Given the description of an element on the screen output the (x, y) to click on. 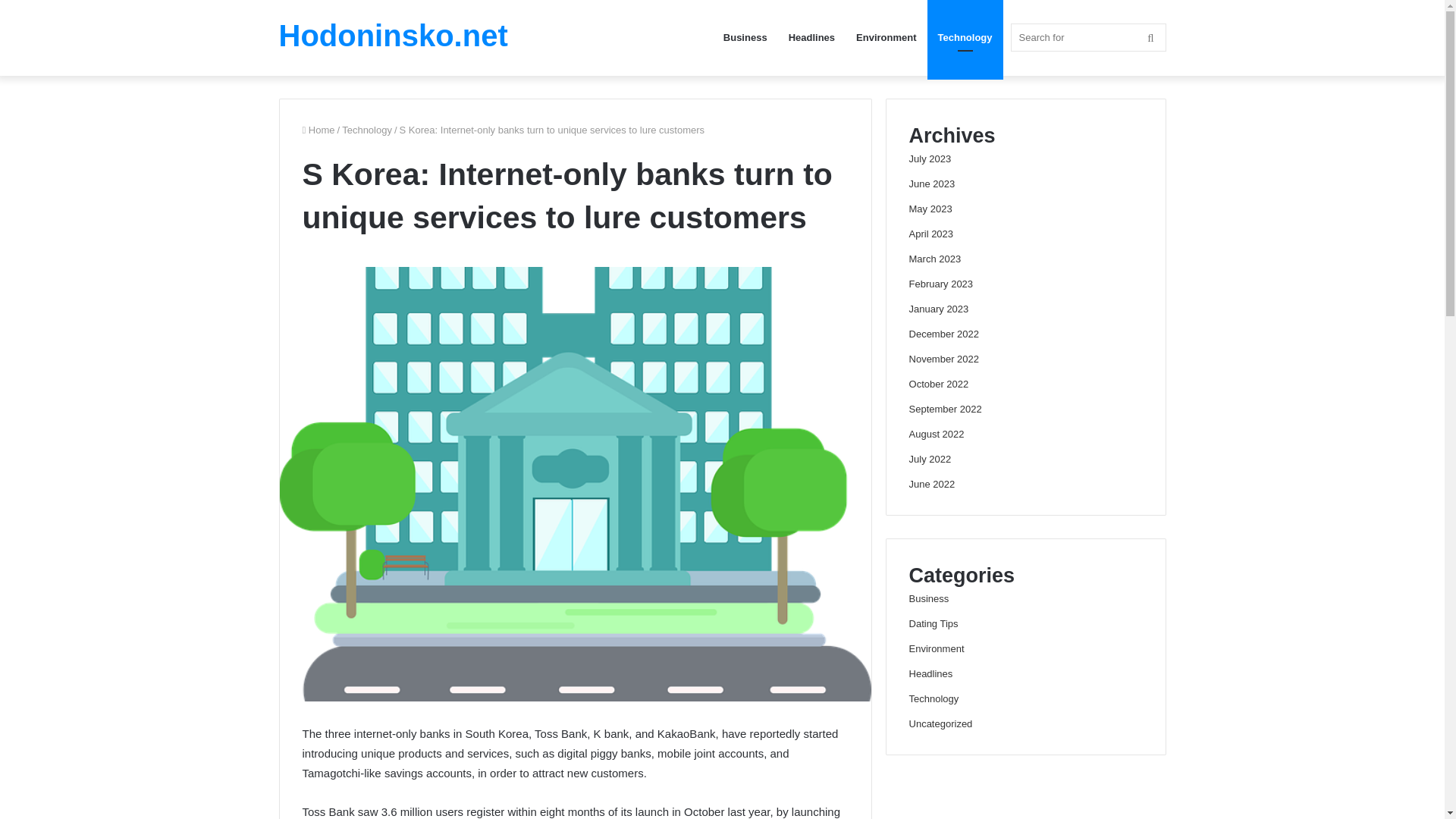
Business (745, 38)
Headlines (930, 673)
Technology (965, 38)
January 2023 (938, 308)
February 2023 (941, 283)
August 2022 (935, 433)
Environment (935, 648)
Home (317, 129)
June 2023 (931, 183)
July 2022 (930, 459)
Headlines (811, 38)
Search for (1088, 37)
Business (928, 598)
Hodoninsko.net (393, 35)
December 2022 (943, 333)
